Given the description of an element on the screen output the (x, y) to click on. 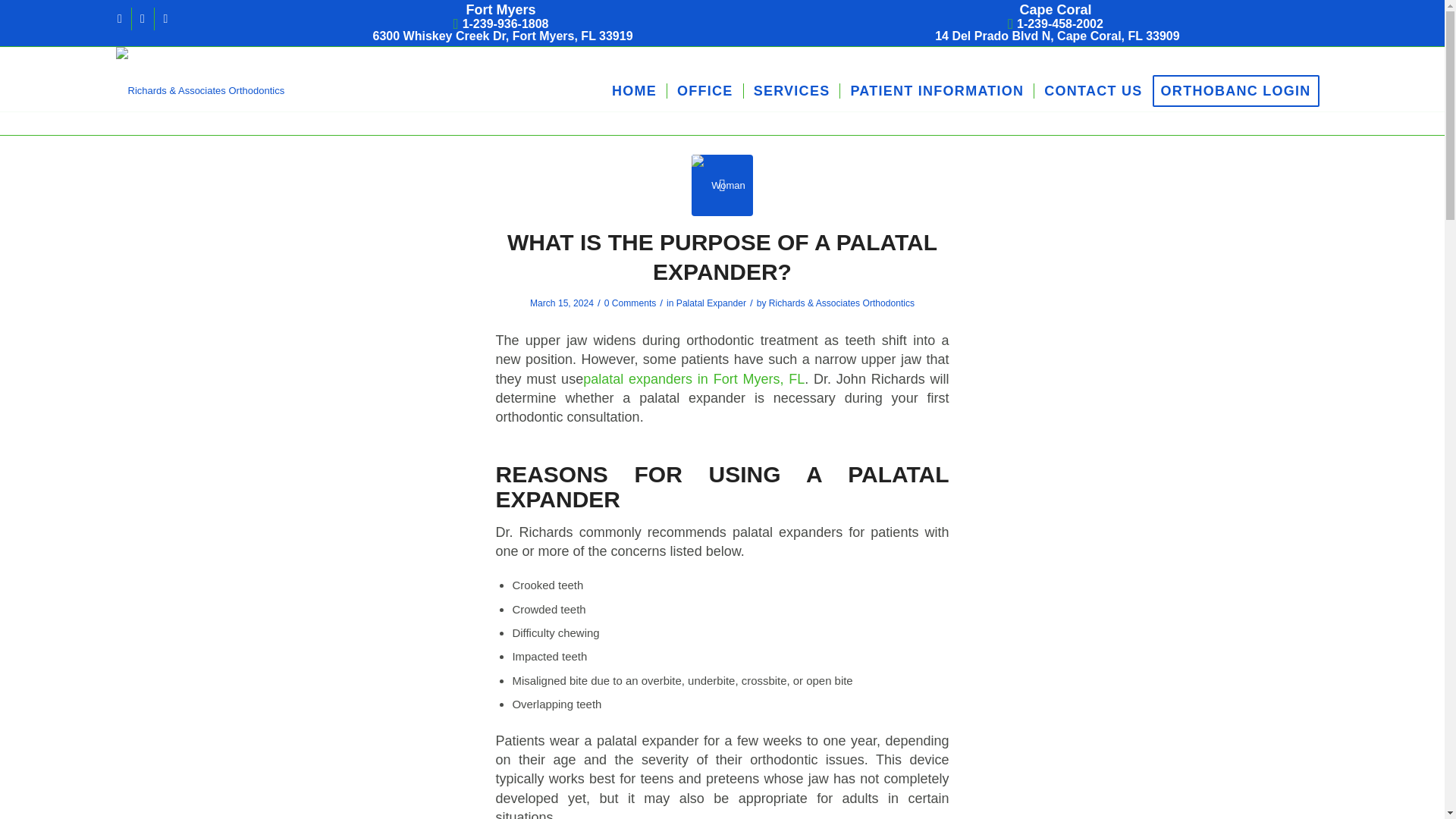
SERVICES (791, 90)
Instagram (143, 18)
ra340x156b (199, 74)
Facebook (120, 18)
PATIENT INFORMATION (936, 90)
14 Del Prado Blvd N, Cape Coral, FL 33909 (1055, 36)
Permanent Link: What is the Purpose of a Palatal Expander? (721, 257)
6300 Whiskey Creek Dr, Fort Myers, FL 33919 (501, 36)
CONTACT US (1092, 90)
Youtube (165, 18)
